Given the description of an element on the screen output the (x, y) to click on. 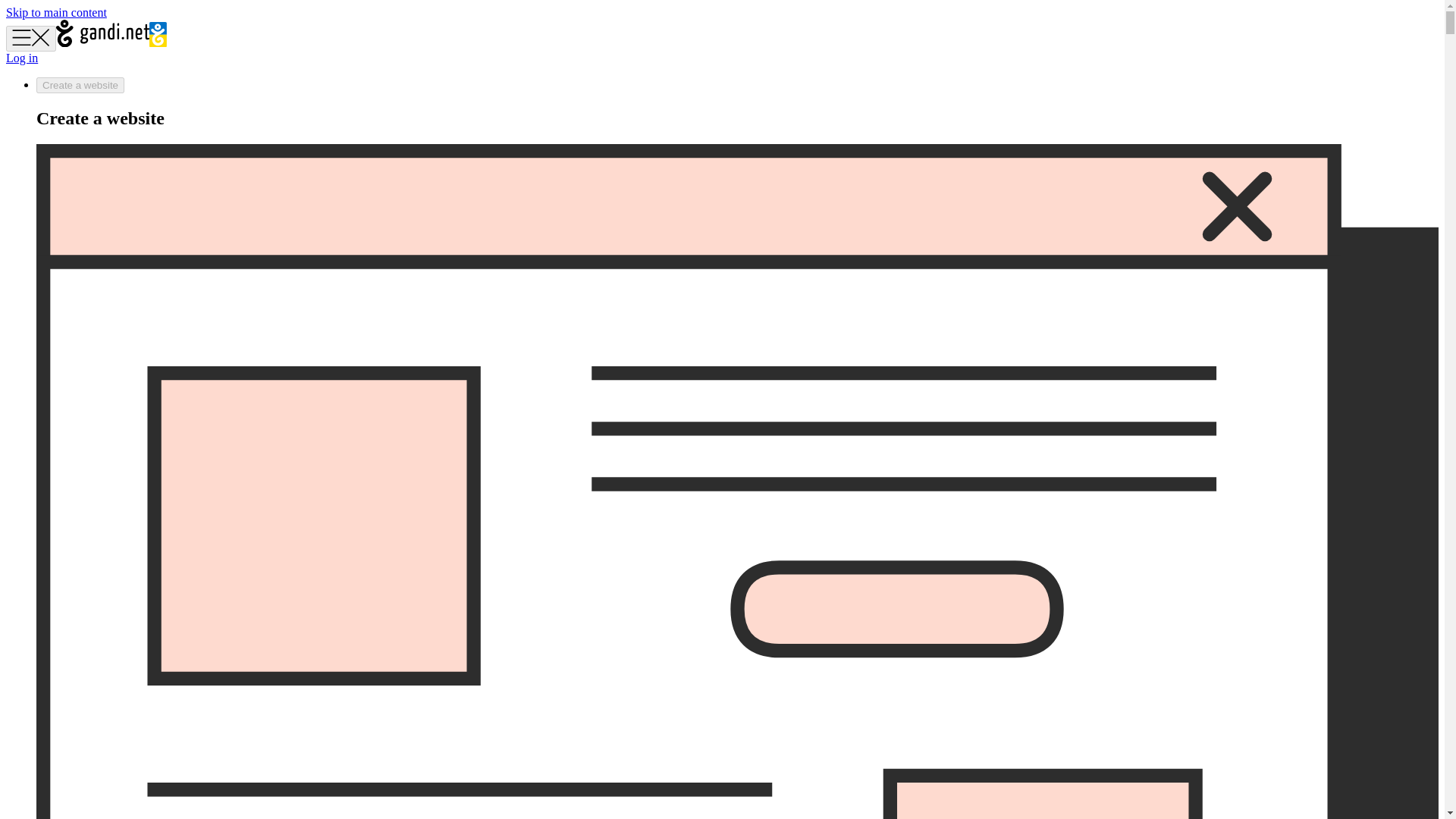
Skip to main content (55, 11)
Create a website (79, 84)
Log in (21, 57)
